Given the description of an element on the screen output the (x, y) to click on. 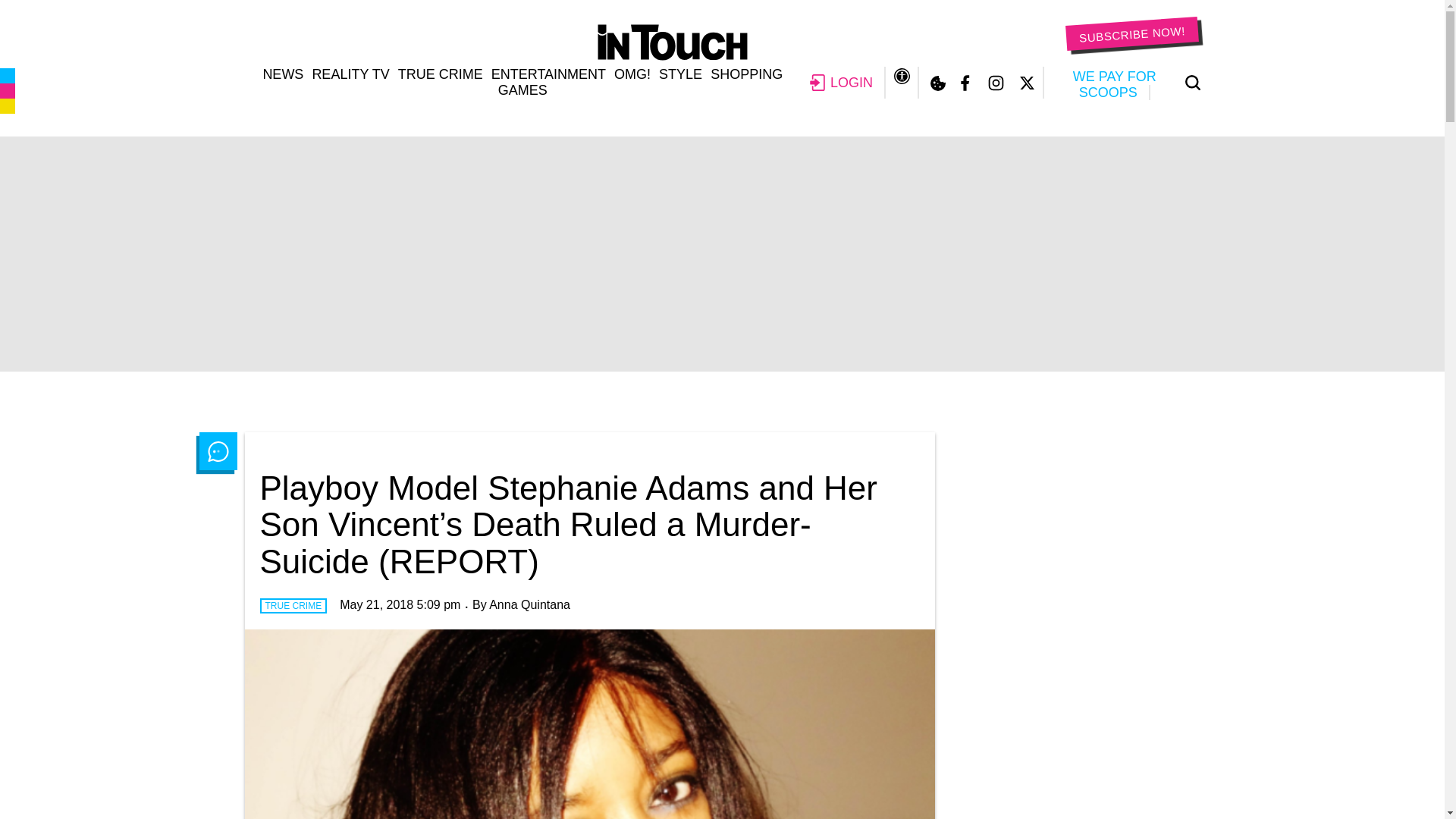
NEWS (282, 73)
TRUE CRIME (440, 73)
Posts by Anna Quintana (529, 604)
REALITY TV (349, 73)
